Given the description of an element on the screen output the (x, y) to click on. 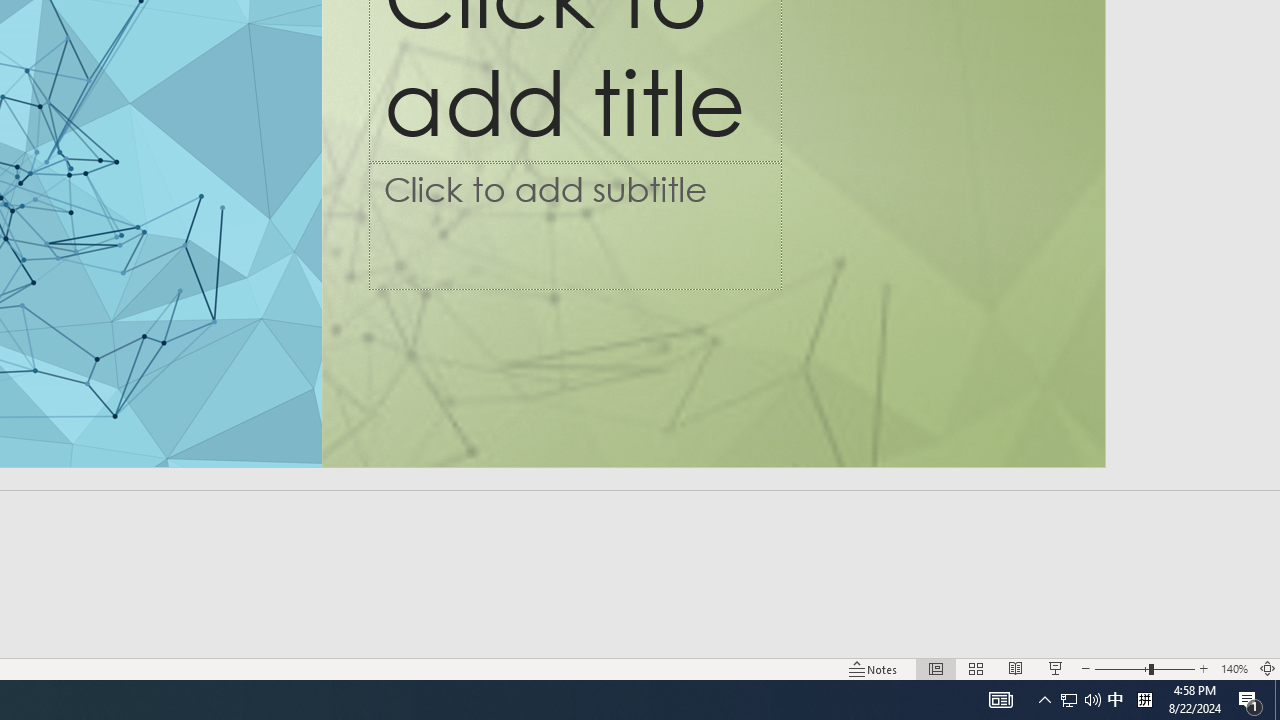
Zoom 140% (1234, 668)
